Given the description of an element on the screen output the (x, y) to click on. 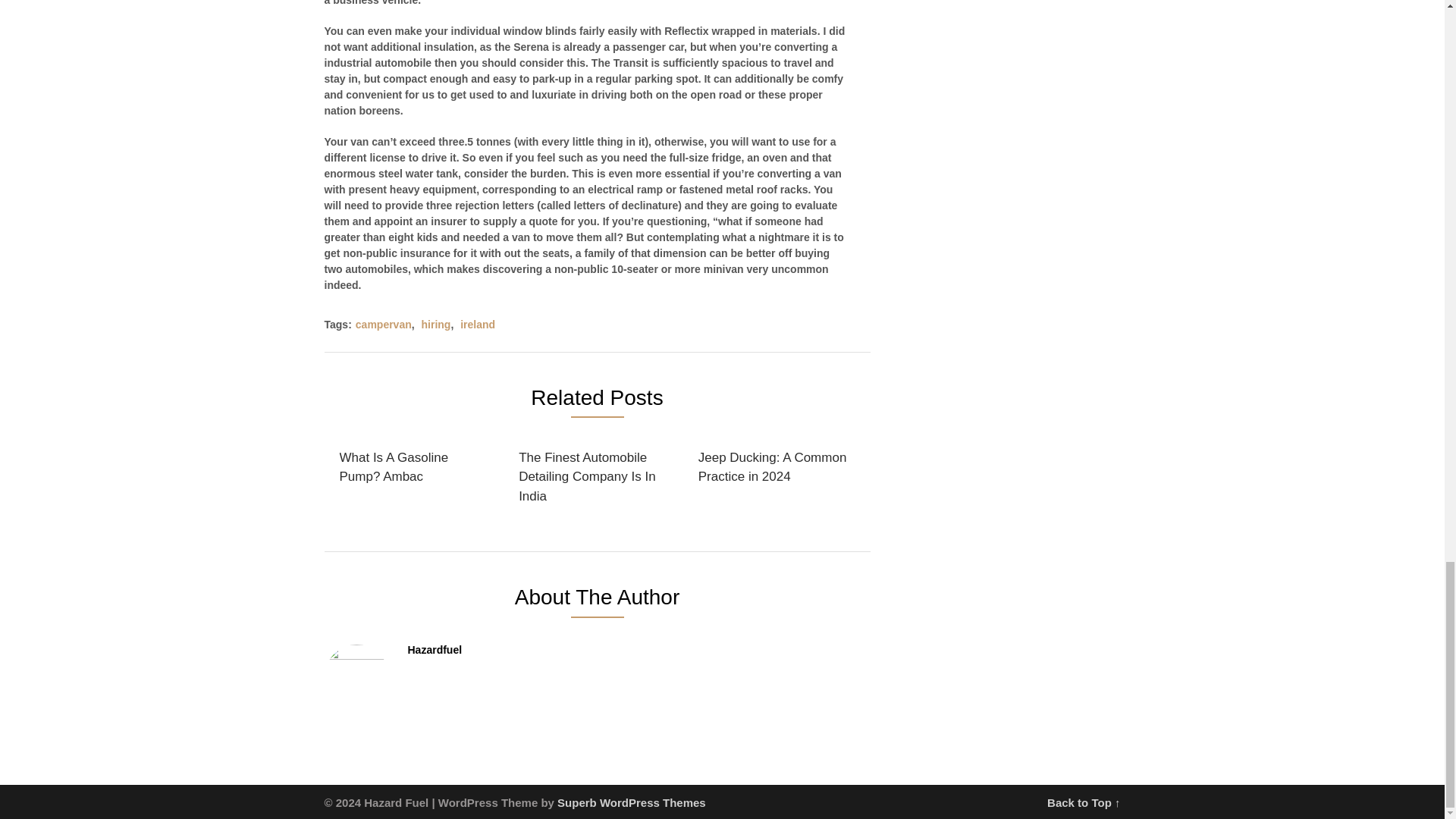
ireland (477, 324)
campervan (383, 324)
What Is A Gasoline Pump? Ambac (415, 467)
The Finest Automobile Detailing Company Is In India (593, 477)
Jeep Ducking: A Common Practice in 2024 (774, 467)
The Finest Automobile Detailing Company Is In India (593, 477)
Jeep Ducking: A Common Practice in 2024 (774, 467)
hiring (436, 324)
What Is A Gasoline Pump? Ambac (415, 467)
Superb WordPress Themes (631, 802)
